Given the description of an element on the screen output the (x, y) to click on. 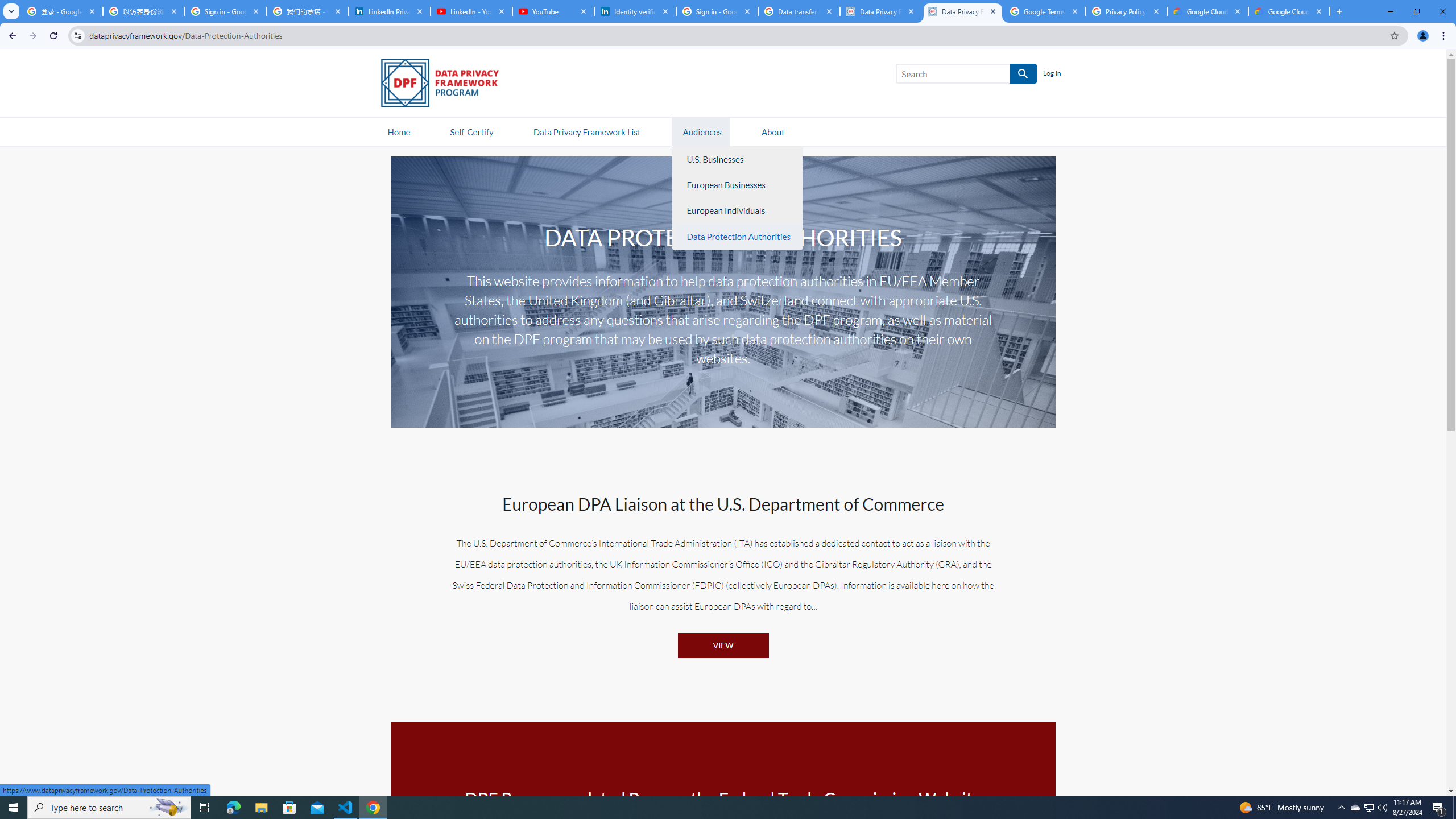
Log In (1051, 73)
AutomationID: navitem2 (772, 131)
Data Privacy Framework List (586, 131)
Self-Certify (471, 131)
